Given the description of an element on the screen output the (x, y) to click on. 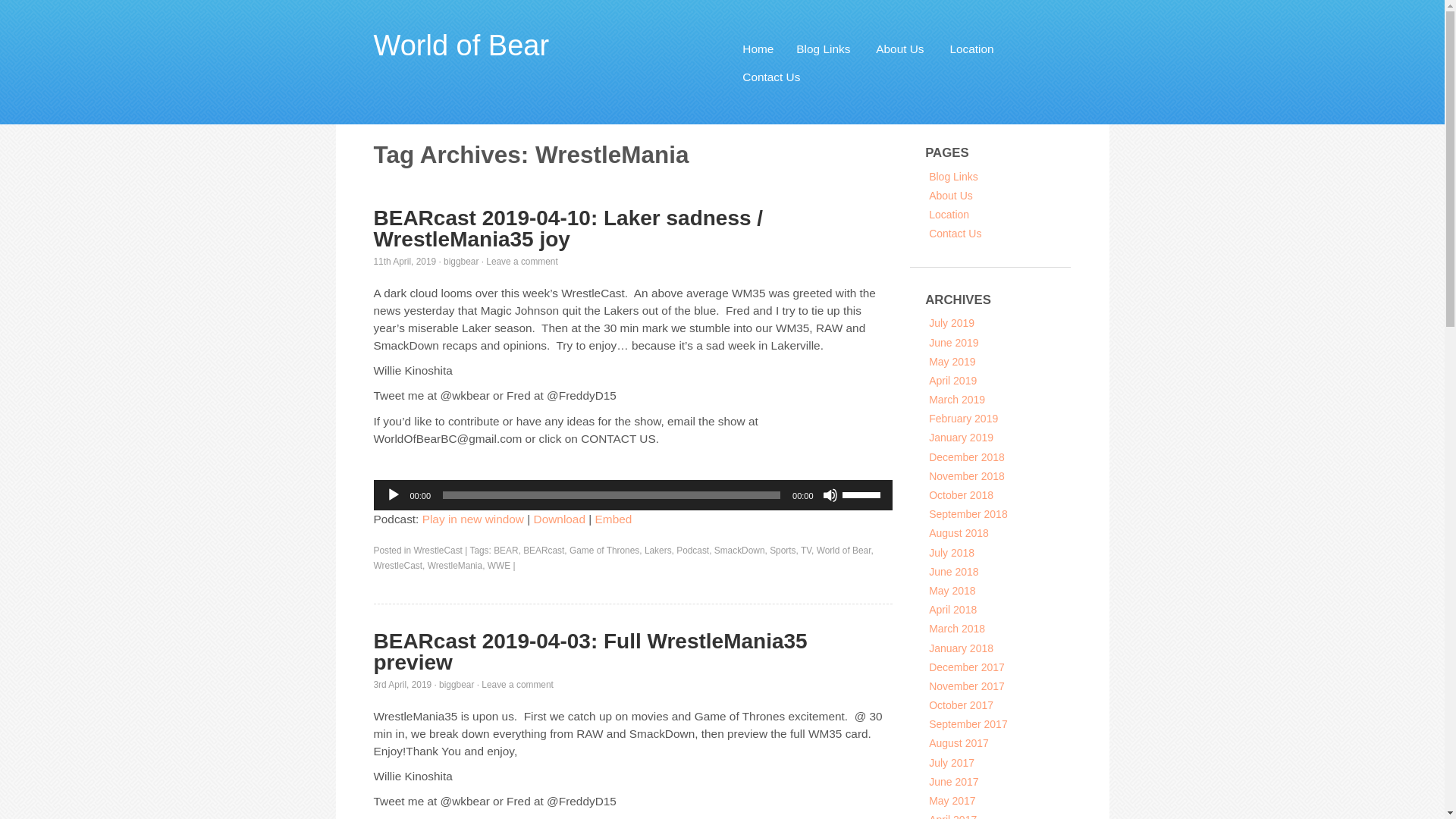
Leave a comment (517, 684)
WrestleCast (397, 565)
Embed (613, 518)
biggbear (461, 261)
Play in new window (473, 518)
11:24 PM (401, 684)
TV (805, 550)
World of Bear (460, 45)
BEARcast 2019-04-03: Full WrestleMania35 preview (589, 651)
Podcast (693, 550)
SmackDown (739, 550)
Mute (830, 494)
Home (757, 48)
Download (559, 518)
World of Bear (460, 45)
